Given the description of an element on the screen output the (x, y) to click on. 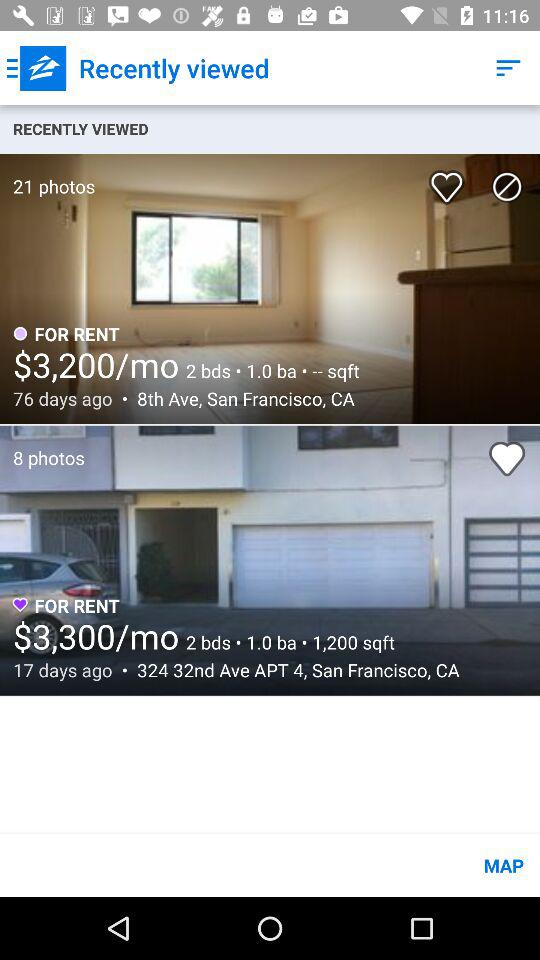
swipe to 8 photos icon (42, 447)
